Given the description of an element on the screen output the (x, y) to click on. 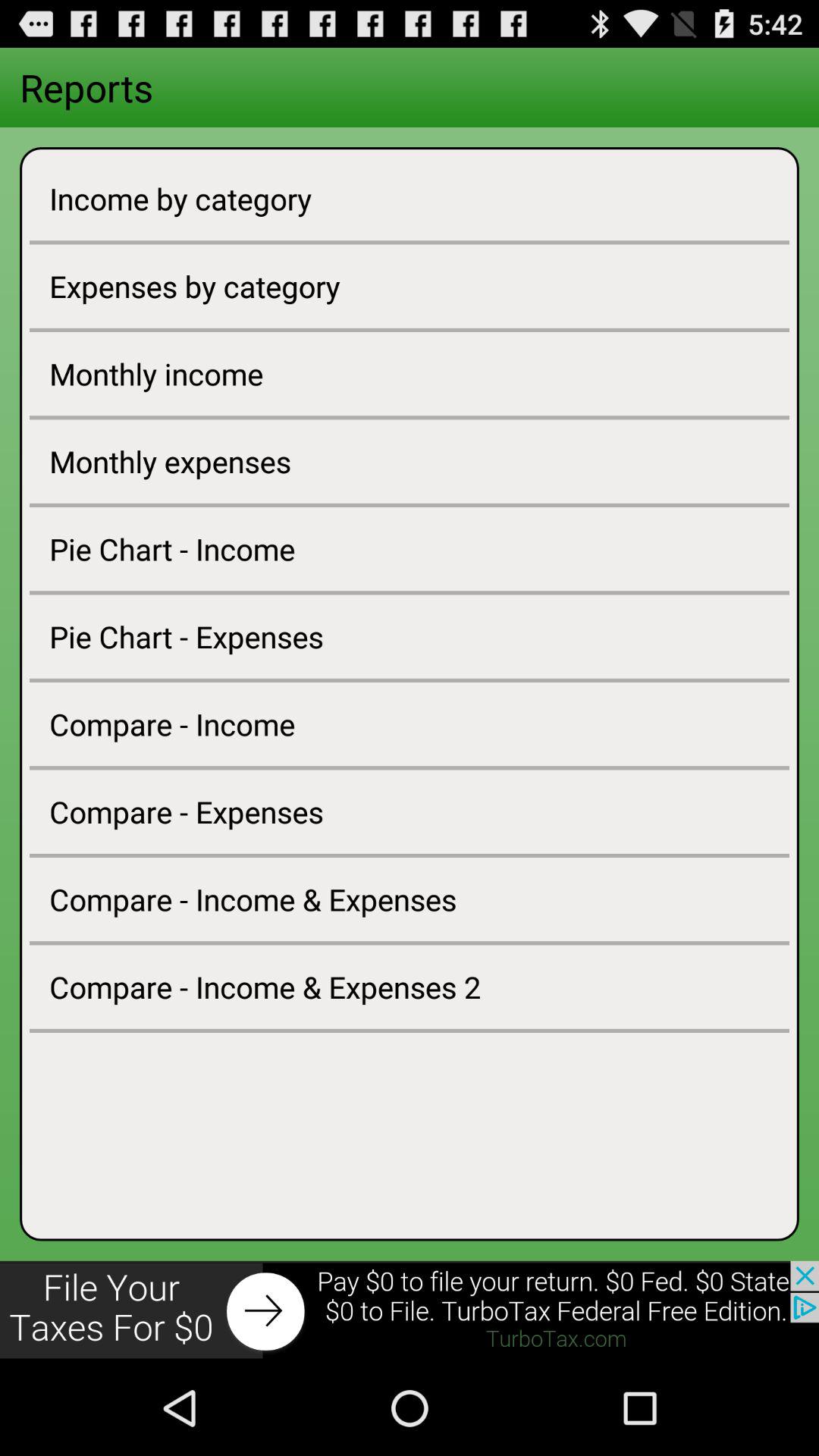
advertisement banner (409, 1310)
